Given the description of an element on the screen output the (x, y) to click on. 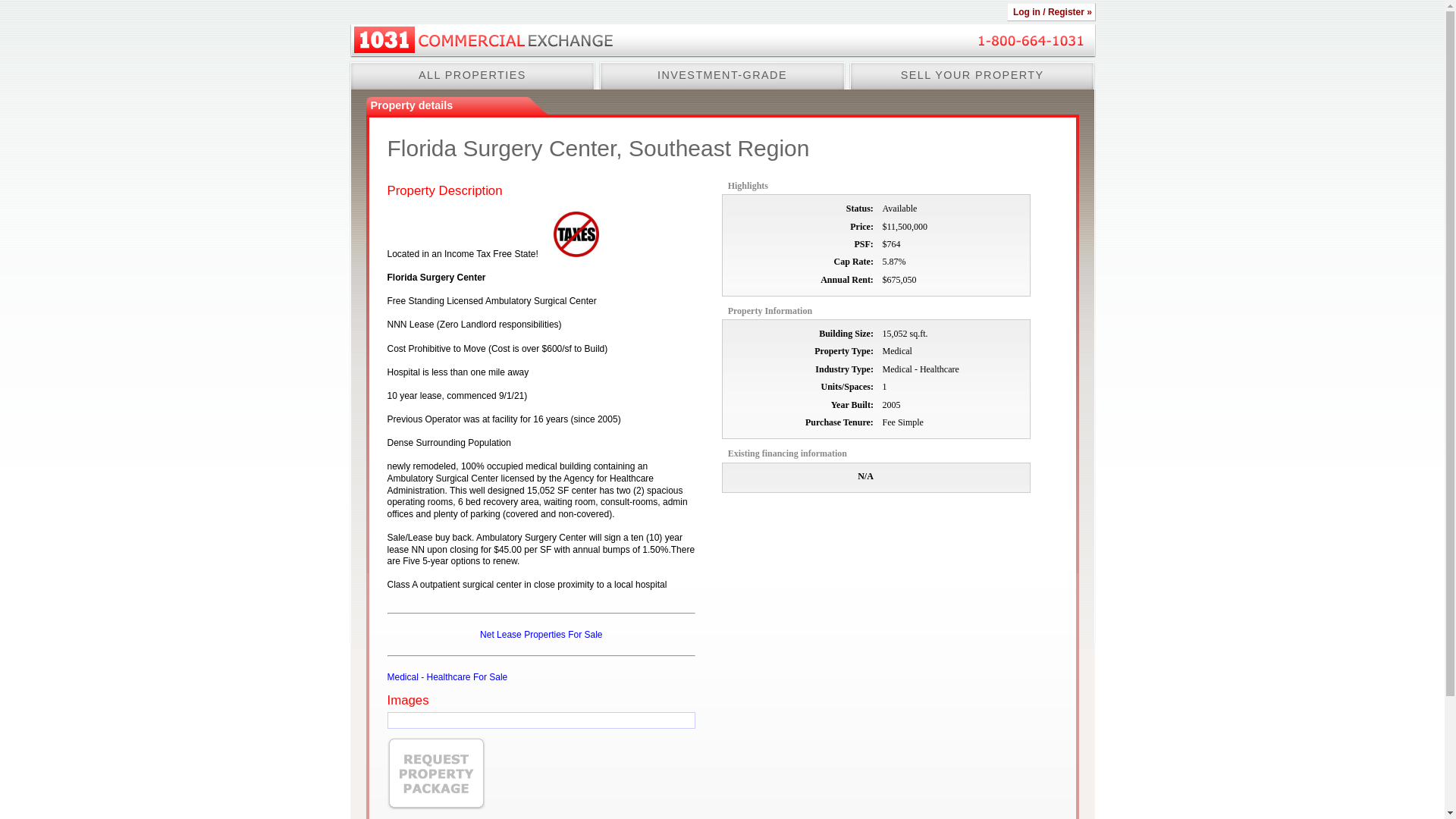
INVESTMENT-GRADE Element type: text (722, 75)
SELL YOUR PROPERTY Element type: text (972, 75)
Medical - Healthcare For Sale Element type: text (446, 676)
ALL PROPERTIES Element type: text (471, 75)
Net Lease Properties For Sale Element type: text (541, 634)
